Given the description of an element on the screen output the (x, y) to click on. 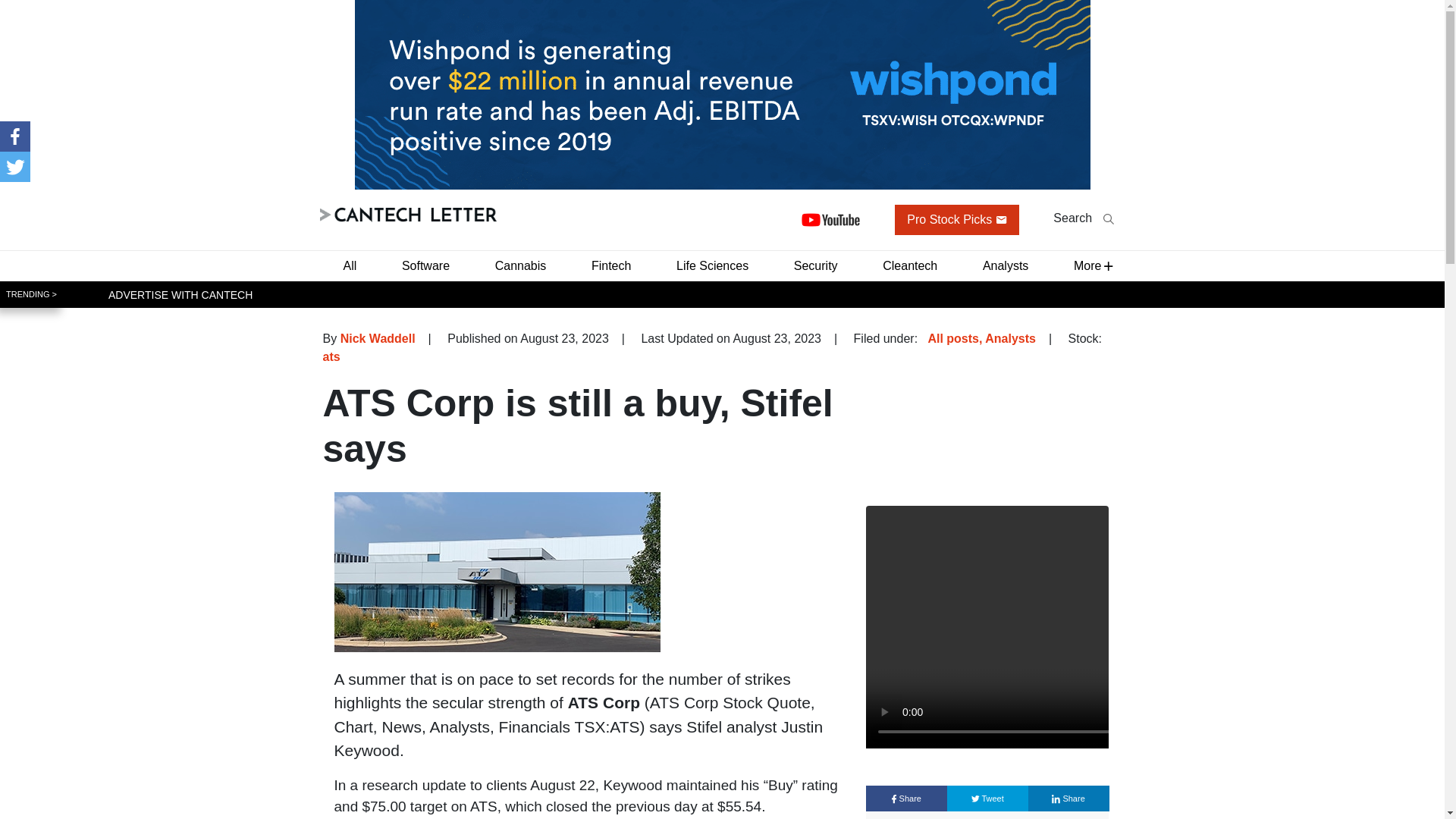
All posts (952, 338)
Cleantech (909, 265)
Facebook (15, 136)
Life Sciences (711, 265)
Security (815, 265)
Pro Stock Picks (957, 219)
ADVERTISE WITH CANTECH (180, 294)
Analysts (1006, 265)
Software (425, 265)
More (1087, 265)
Twitter (15, 166)
Analysts (1010, 338)
Fintech (611, 265)
All (349, 265)
Cannabis (521, 265)
